Given the description of an element on the screen output the (x, y) to click on. 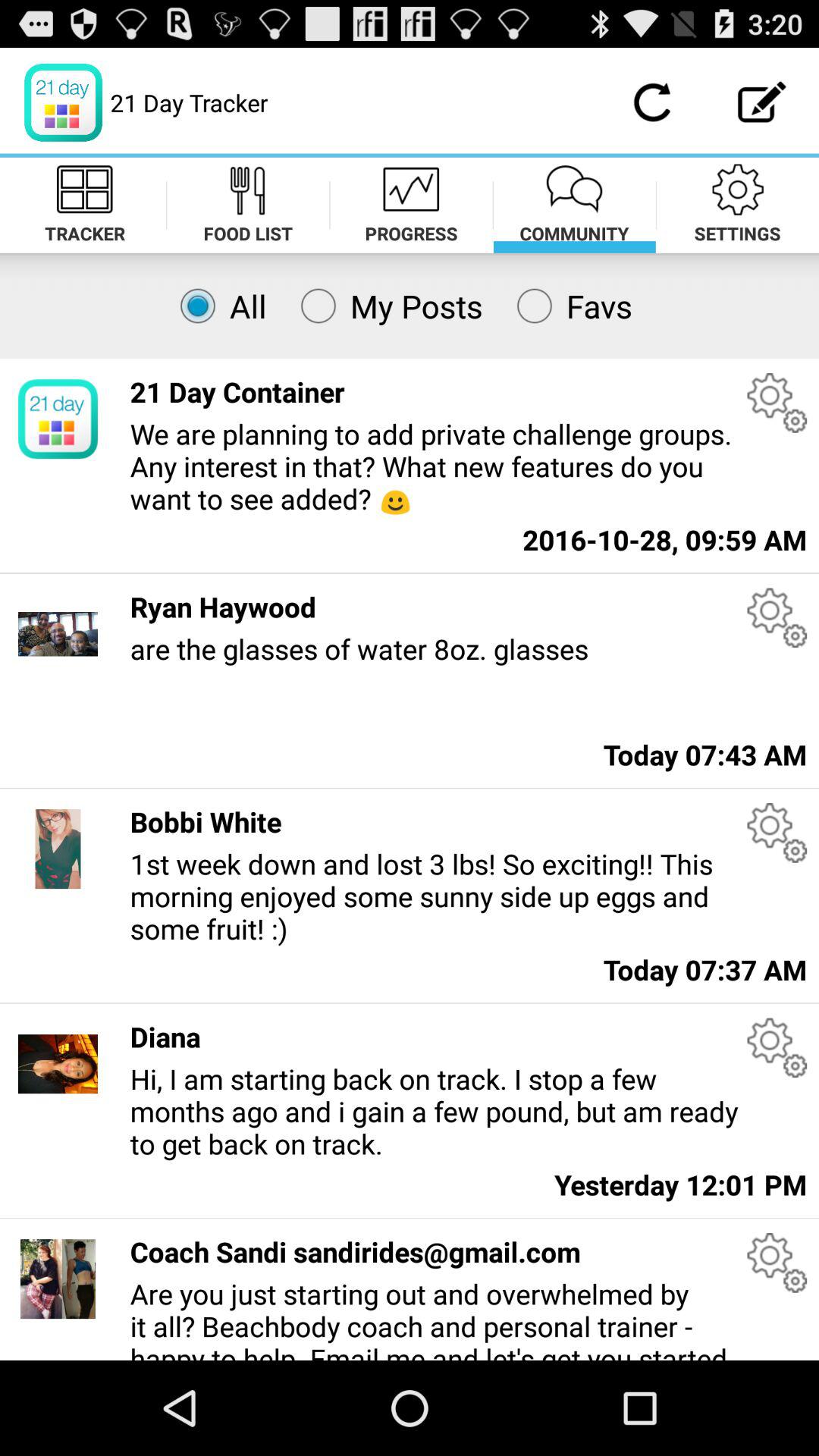
settings (777, 402)
